Given the description of an element on the screen output the (x, y) to click on. 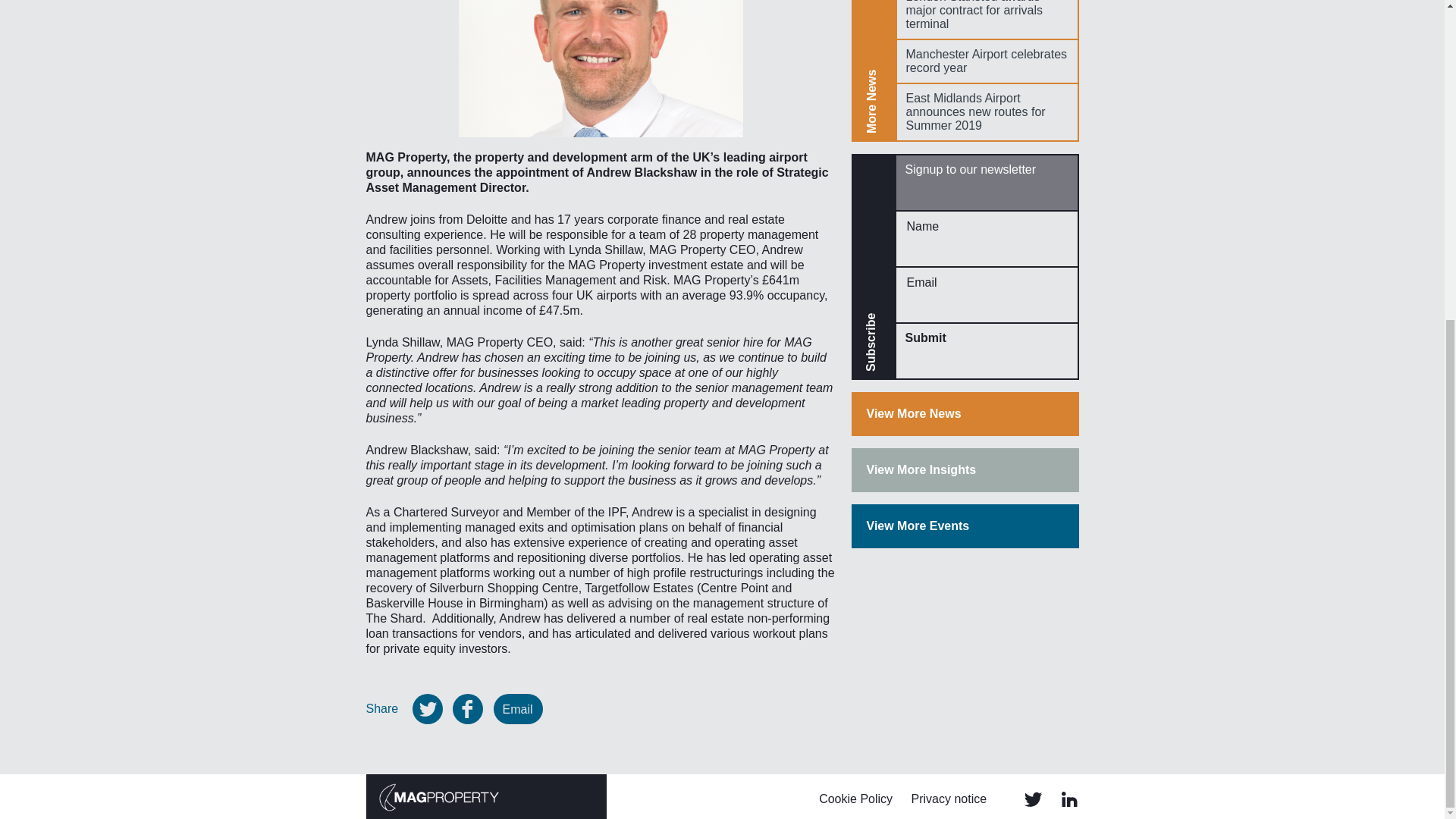
Share by email (518, 708)
Cookie Policy (855, 798)
Privacy notice (949, 798)
East Midlands Airport announces new routes for Summer 2019 (987, 111)
Share on Facebook (467, 708)
Share on Twitter (427, 708)
Twitter (1032, 799)
View More Events (964, 525)
Submit (986, 337)
Submit (986, 337)
London Stansted awards major contract for arrivals terminal (987, 19)
Manchester Airport celebrates record year (987, 61)
Linked (1068, 798)
View More Insights (964, 469)
View More News (964, 413)
